Given the description of an element on the screen output the (x, y) to click on. 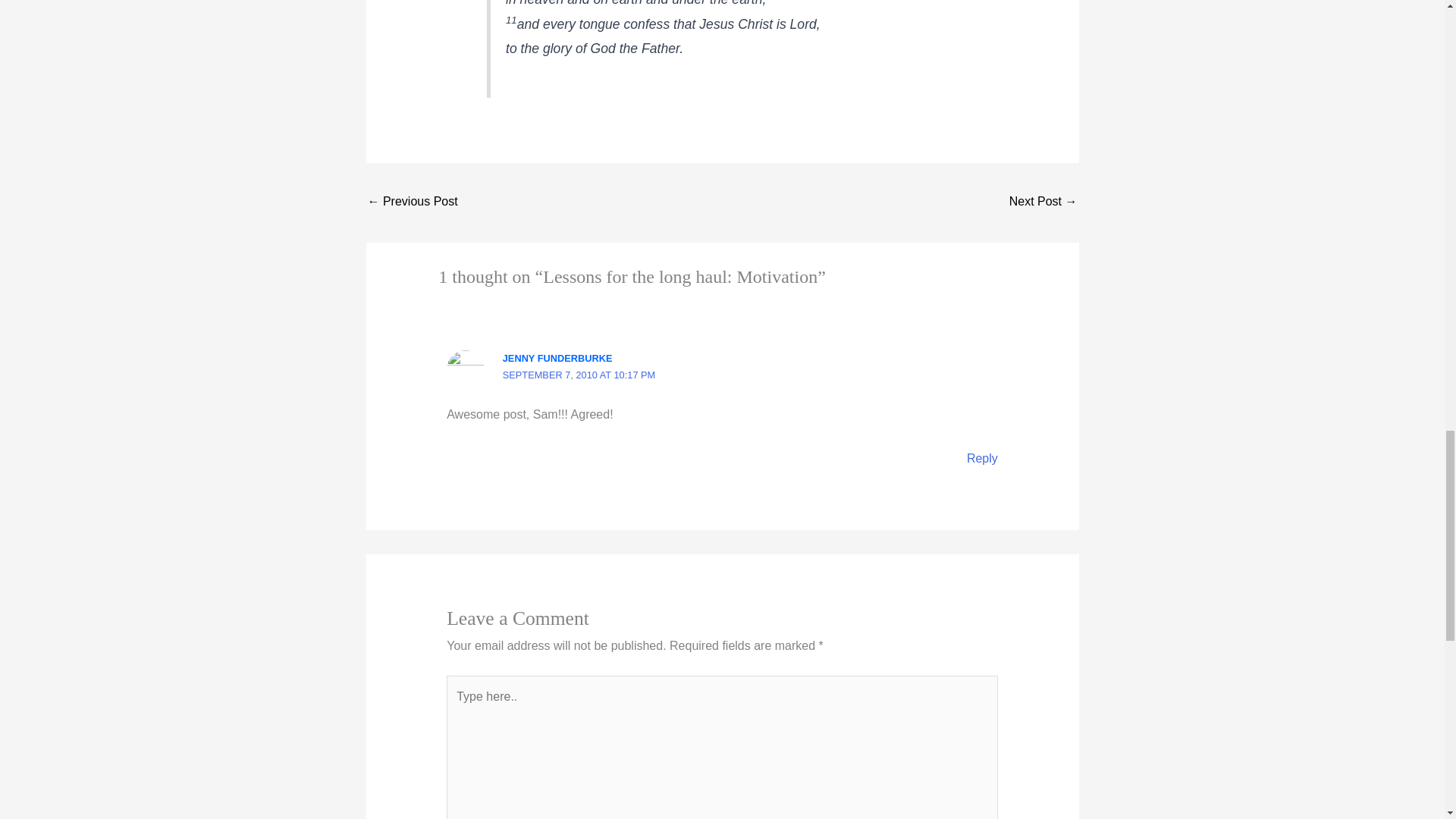
Lessons for the long haul: Dealing with Discouragement (411, 203)
Give Away Tuesday: The Lads Curriculum (1043, 203)
Reply (981, 458)
SEPTEMBER 7, 2010 AT 10:17 PM (579, 374)
